Given the description of an element on the screen output the (x, y) to click on. 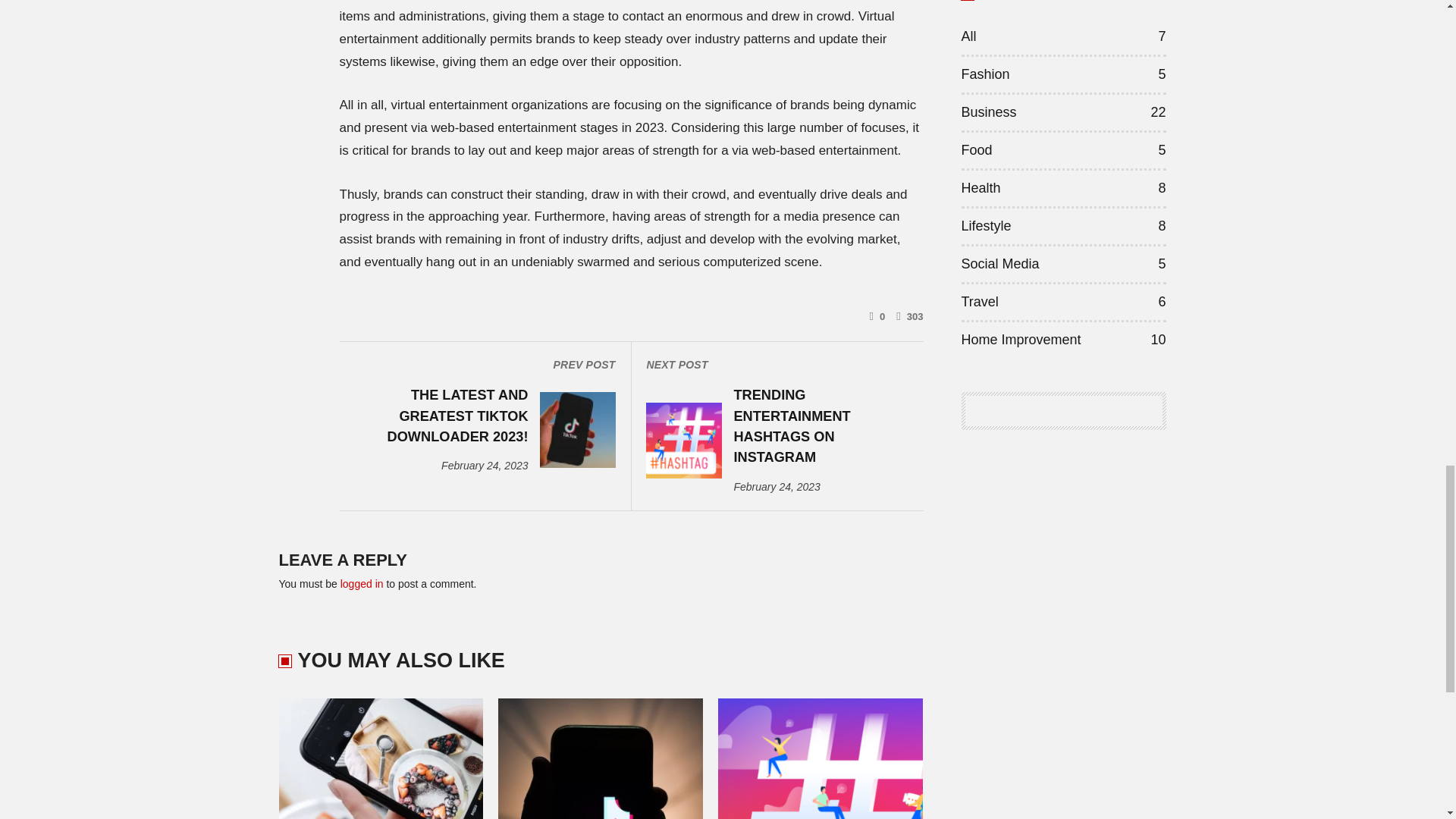
11:27 am (484, 465)
PREV POST (483, 365)
NEXT POST (776, 365)
303 (909, 316)
THE LATEST AND GREATEST TIKTOK DOWNLOADER 2023! (440, 415)
0 (877, 316)
